Given the description of an element on the screen output the (x, y) to click on. 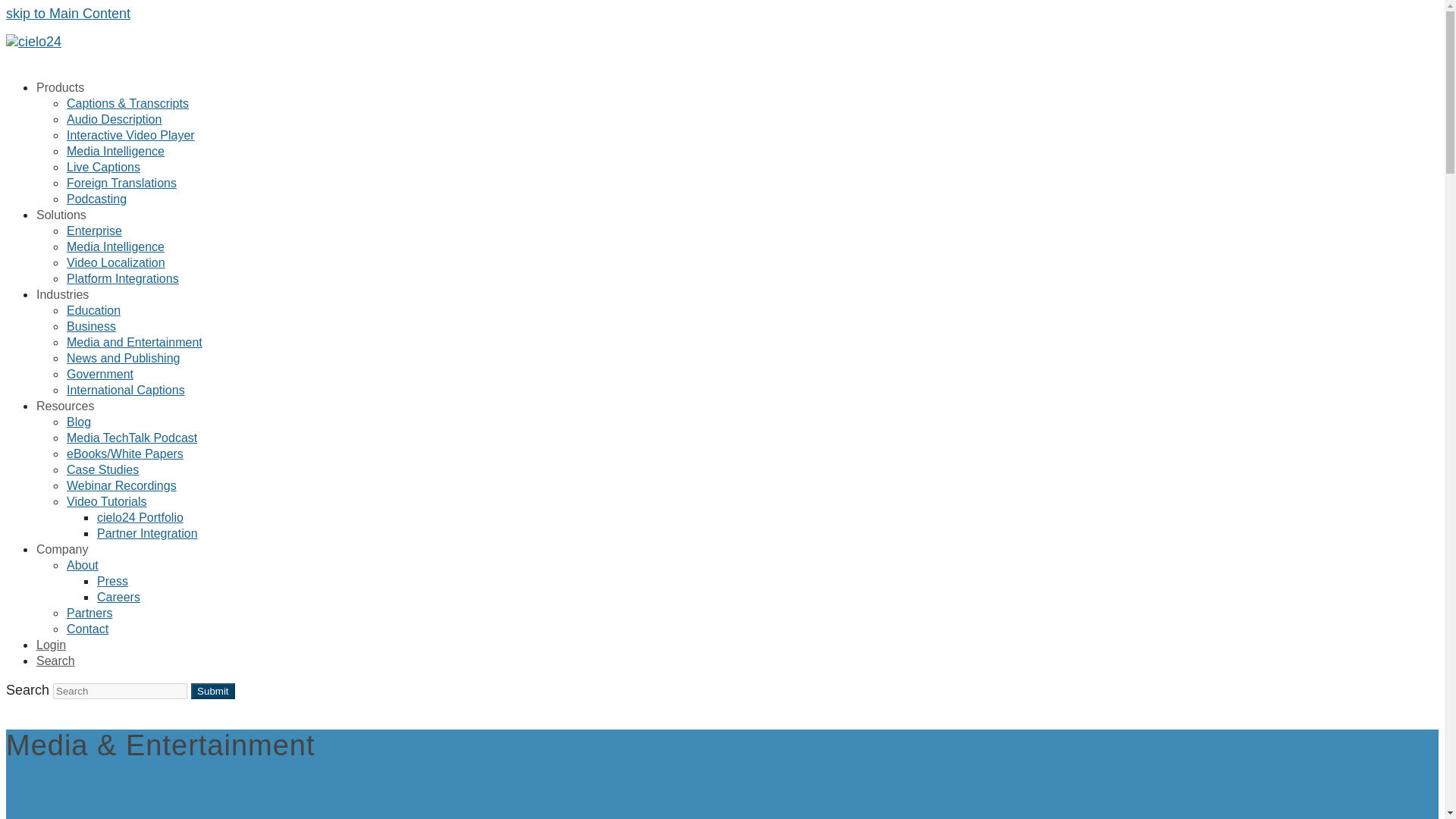
Video Localization (115, 262)
Company (61, 548)
Solutions (60, 214)
Government (99, 373)
Media TechTalk Podcast (131, 437)
Enterprise (94, 230)
Live Captions (102, 166)
Media Intelligence (115, 150)
News and Publishing (122, 357)
Login (50, 644)
